Given the description of an element on the screen output the (x, y) to click on. 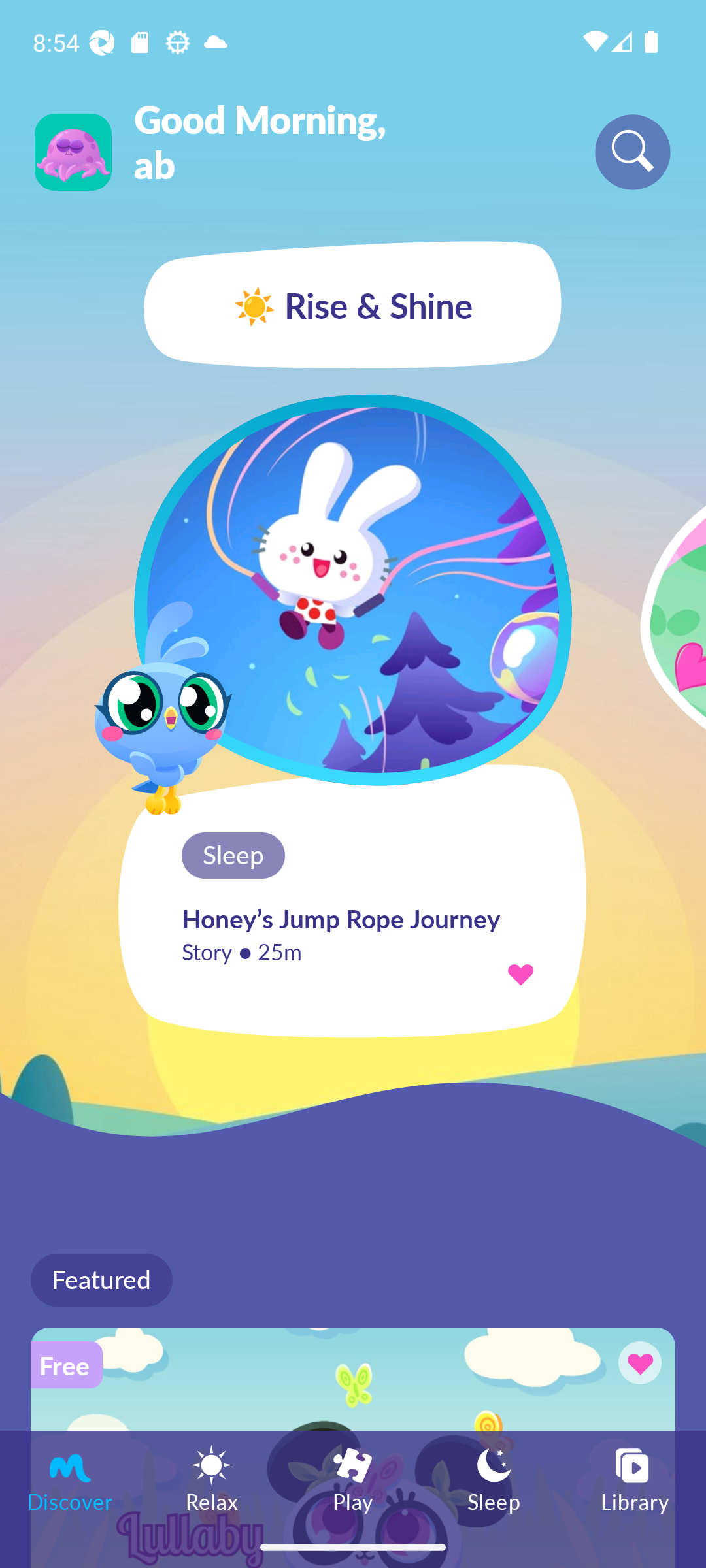
Search (632, 151)
action (520, 973)
Button (636, 1365)
Relax (211, 1478)
Play (352, 1478)
Sleep (493, 1478)
Library (635, 1478)
